Given the description of an element on the screen output the (x, y) to click on. 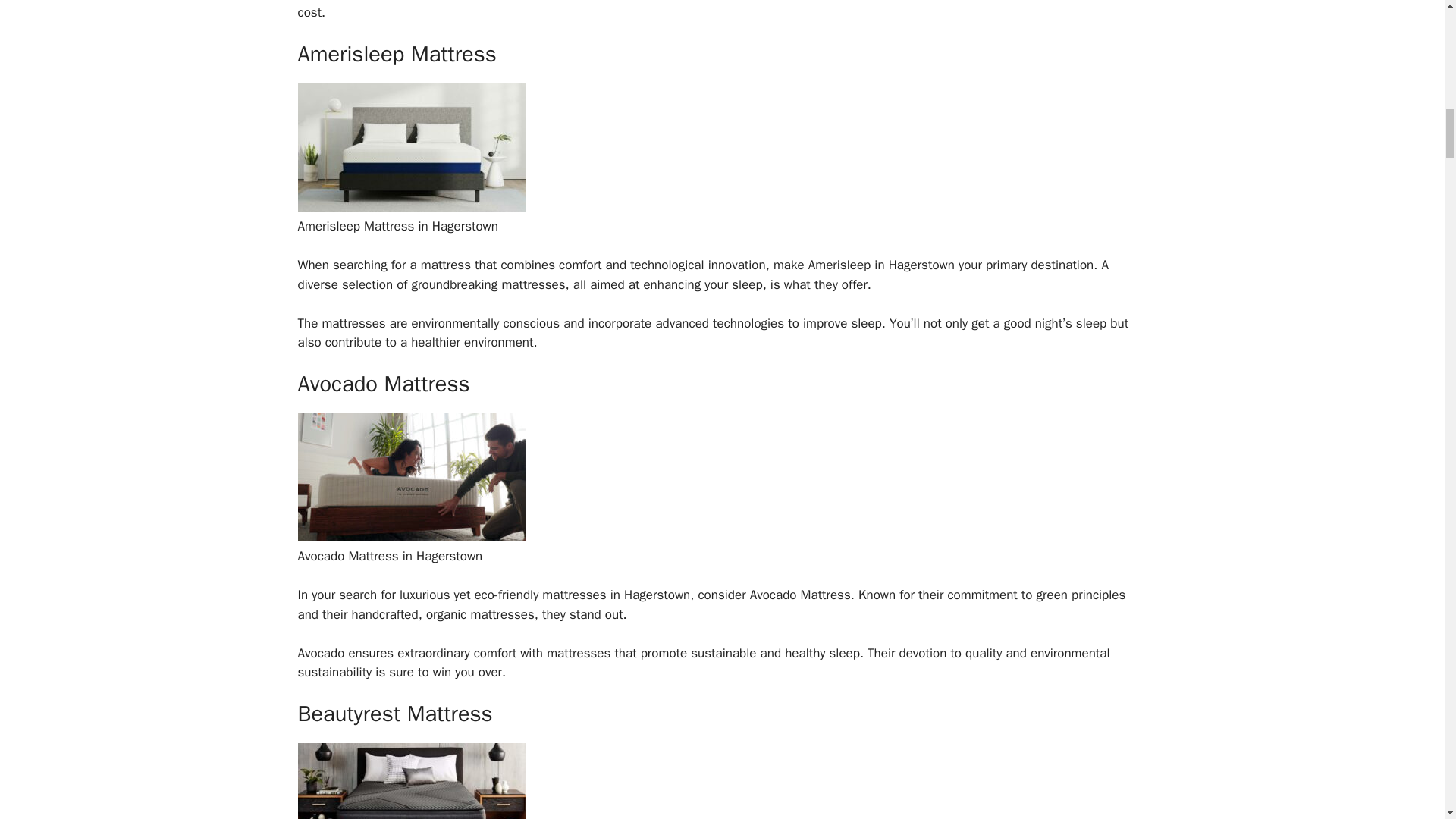
Avocado Mattress Hagerstown (410, 537)
Amerisleep Mattress Hagerstown (410, 207)
